Given the description of an element on the screen output the (x, y) to click on. 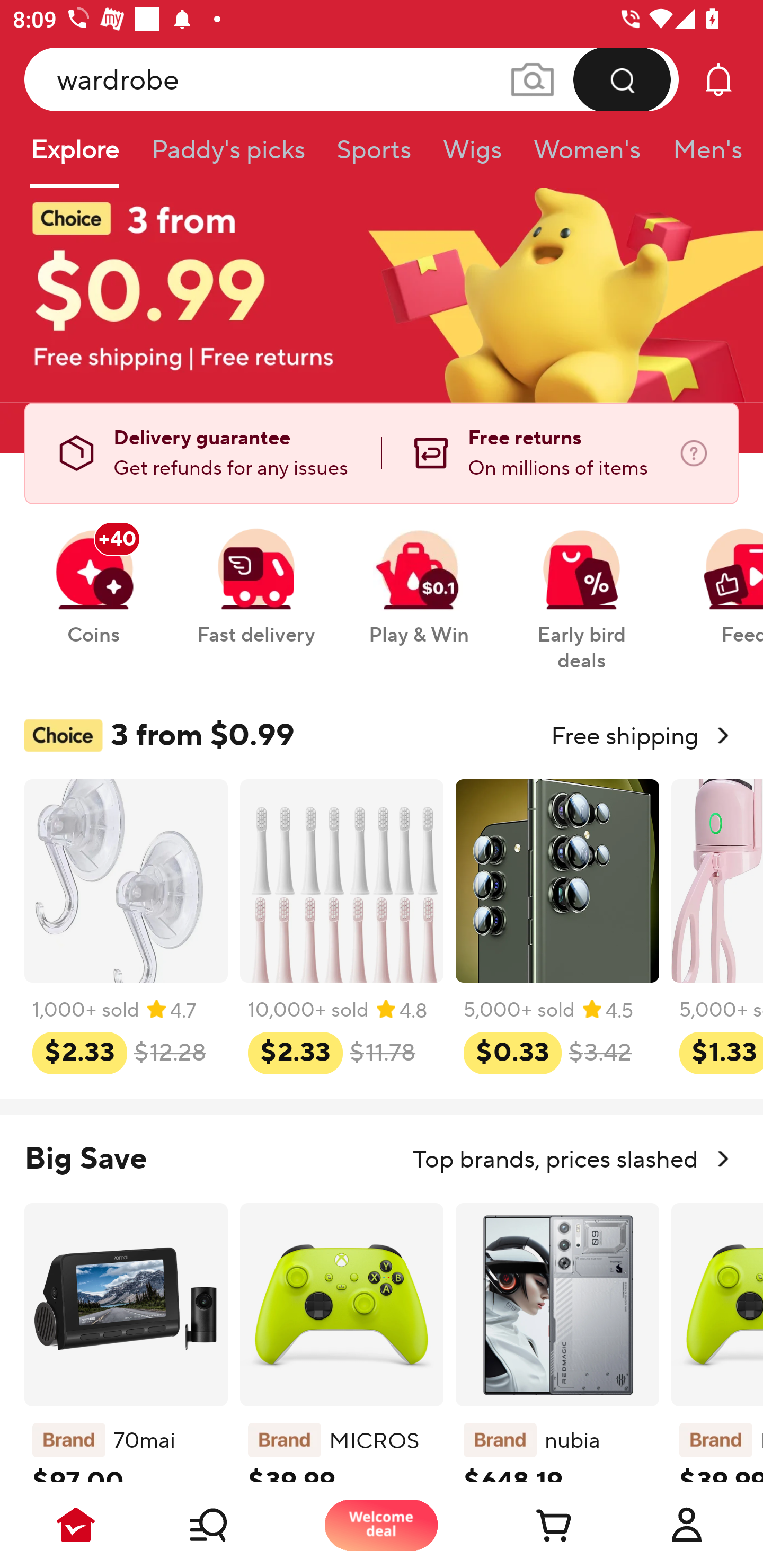
wardrobe (351, 79)
Paddy's picks (227, 155)
Sports (373, 155)
Wigs (472, 155)
Women's (586, 155)
Men's (701, 155)
Coinsbutton +40 Coins (93, 576)
Fast deliverybutton Fast delivery (255, 576)
Play & Winbutton Play & Win (418, 576)
Early bird dealsbutton Early bird deals (581, 589)
Feedbutton Feed (719, 576)
Shop (228, 1524)
Cart (533, 1524)
Account (686, 1524)
